Given the description of an element on the screen output the (x, y) to click on. 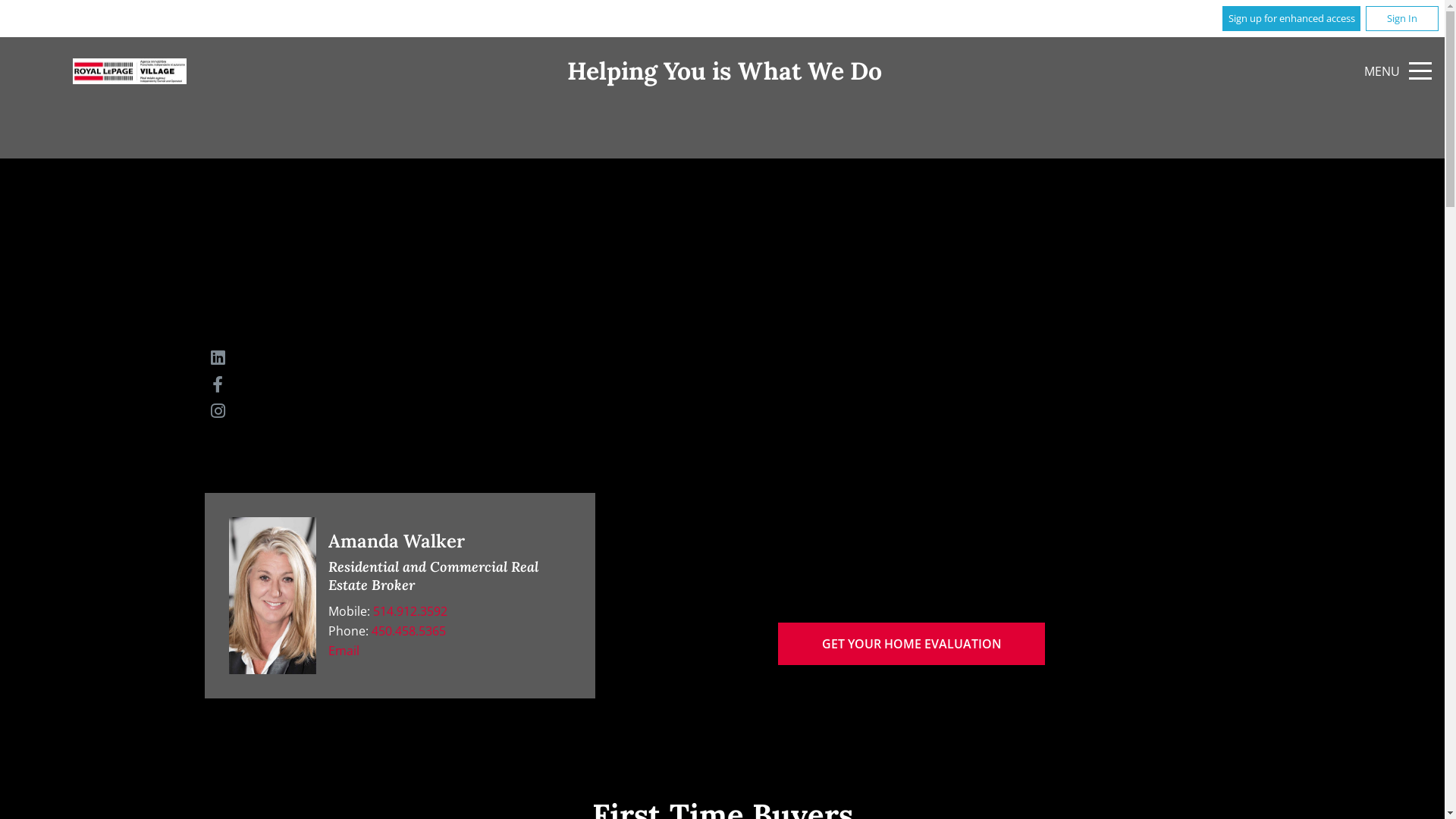
GET YOUR HOME EVALUATION Element type: text (911, 643)
Home Element type: hover (129, 71)
514.912.3592 Element type: text (410, 610)
Email Element type: text (343, 650)
Amanda Walker Element type: hover (272, 595)
450.458.5365 Element type: text (408, 630)
